Given the description of an element on the screen output the (x, y) to click on. 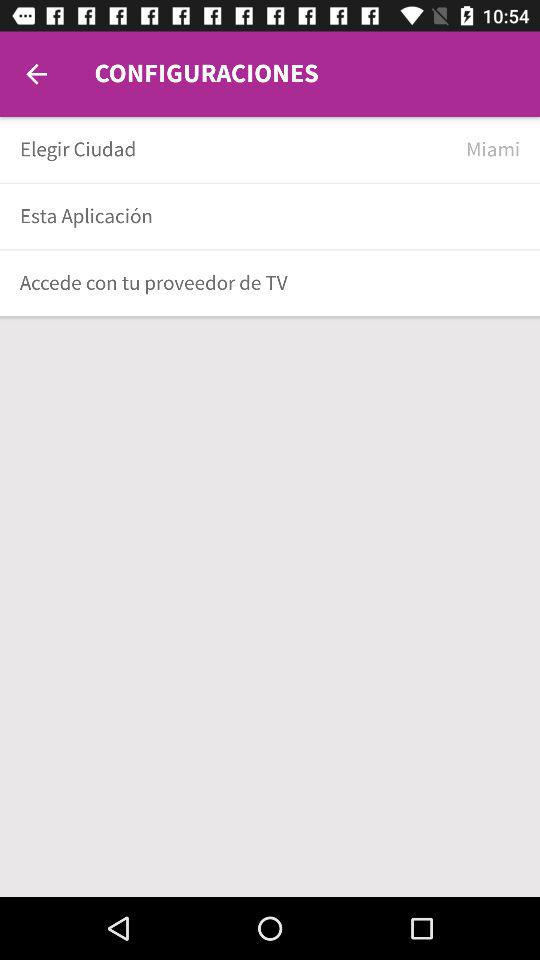
turn on item at the top right corner (493, 149)
